Given the description of an element on the screen output the (x, y) to click on. 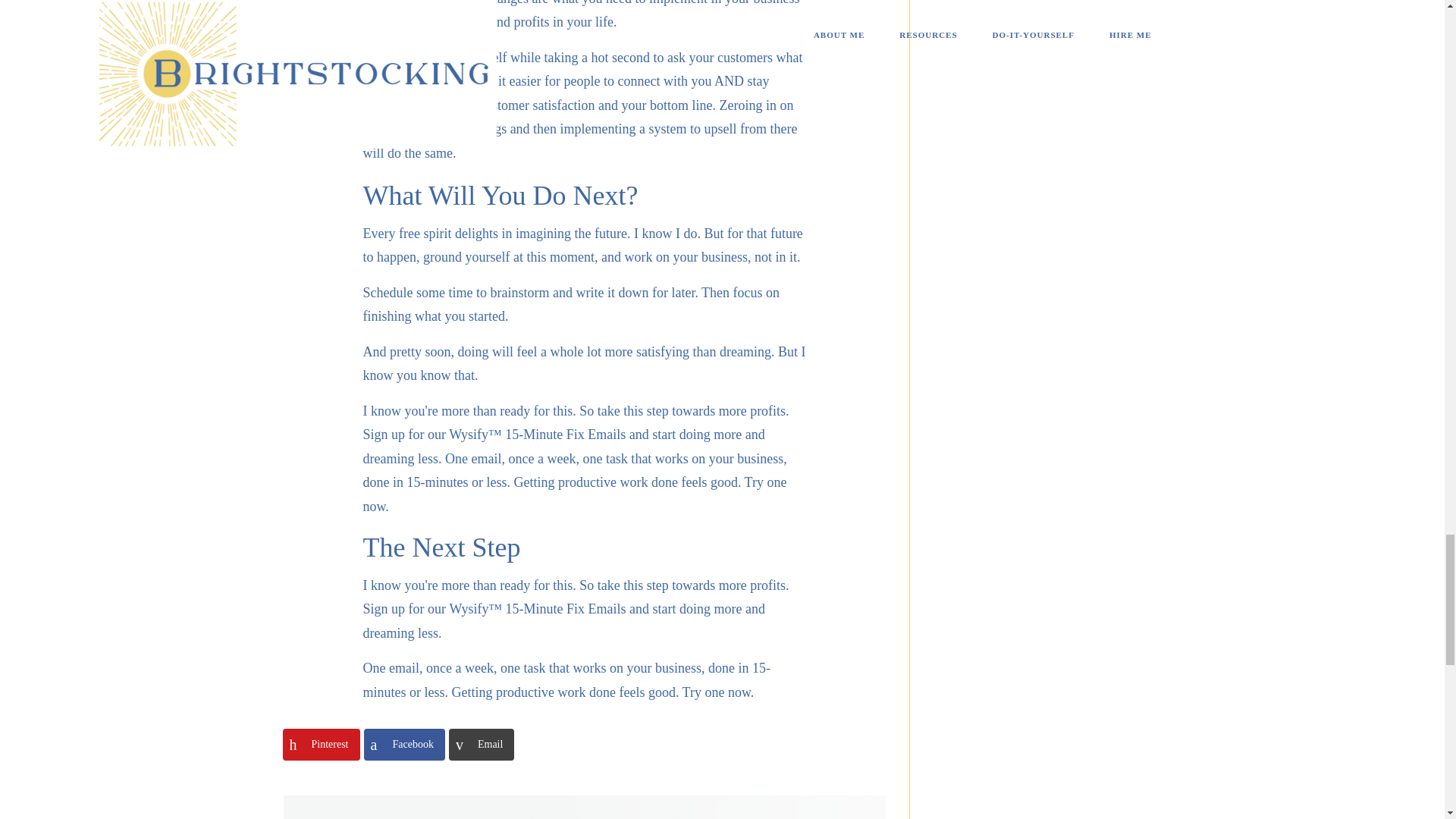
Share on Email (480, 744)
Share on Facebook (404, 744)
Share on Pinterest (320, 744)
Pinterest (320, 744)
Email (480, 744)
Facebook (404, 744)
